Given the description of an element on the screen output the (x, y) to click on. 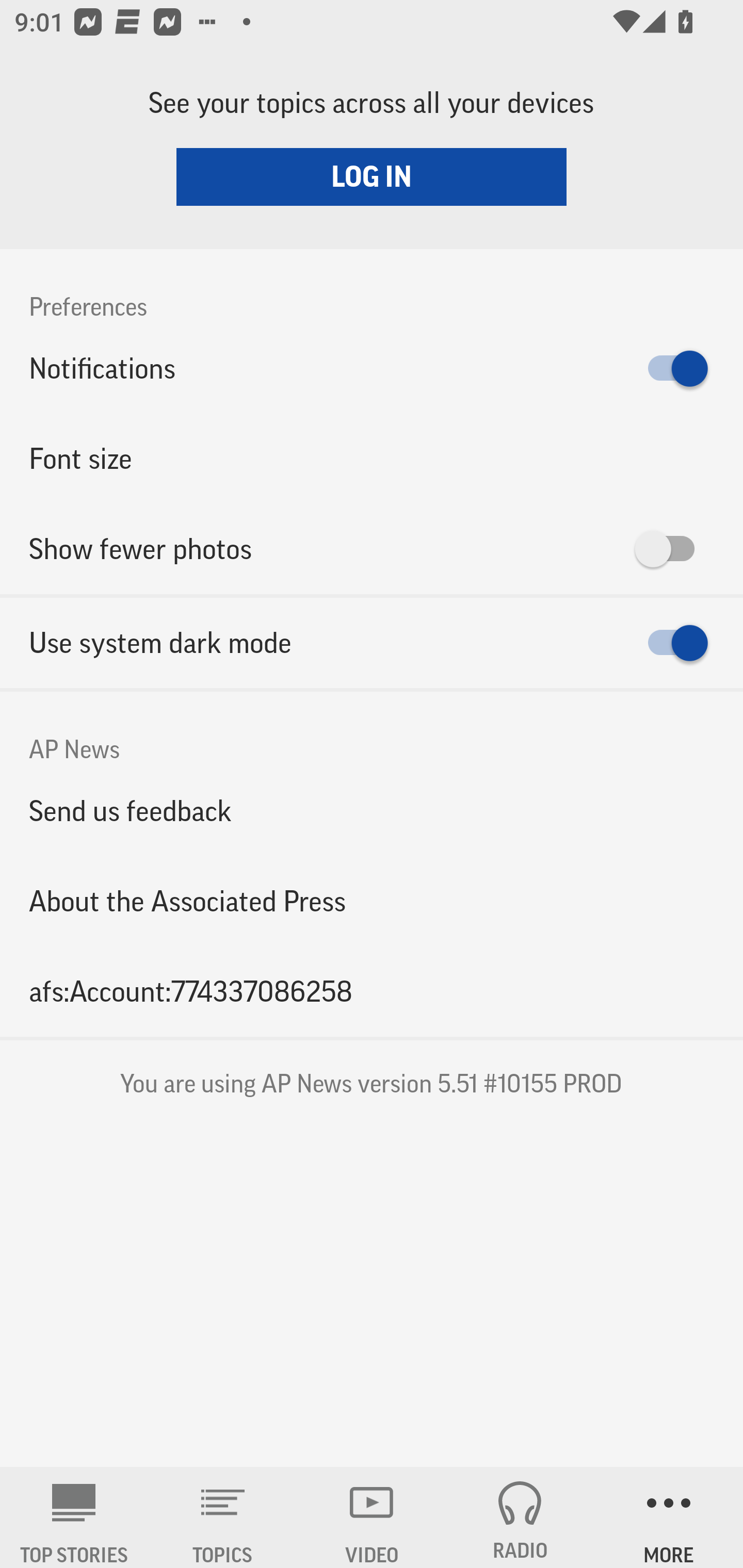
LOG IN (371, 176)
Notifications (371, 368)
Font size (371, 458)
Show fewer photos (371, 548)
Use system dark mode (371, 642)
Send us feedback (371, 810)
About the Associated Press (371, 901)
afs:Account:774337086258 (371, 991)
AP News TOP STORIES (74, 1517)
TOPICS (222, 1517)
VIDEO (371, 1517)
RADIO (519, 1517)
MORE (668, 1517)
